Given the description of an element on the screen output the (x, y) to click on. 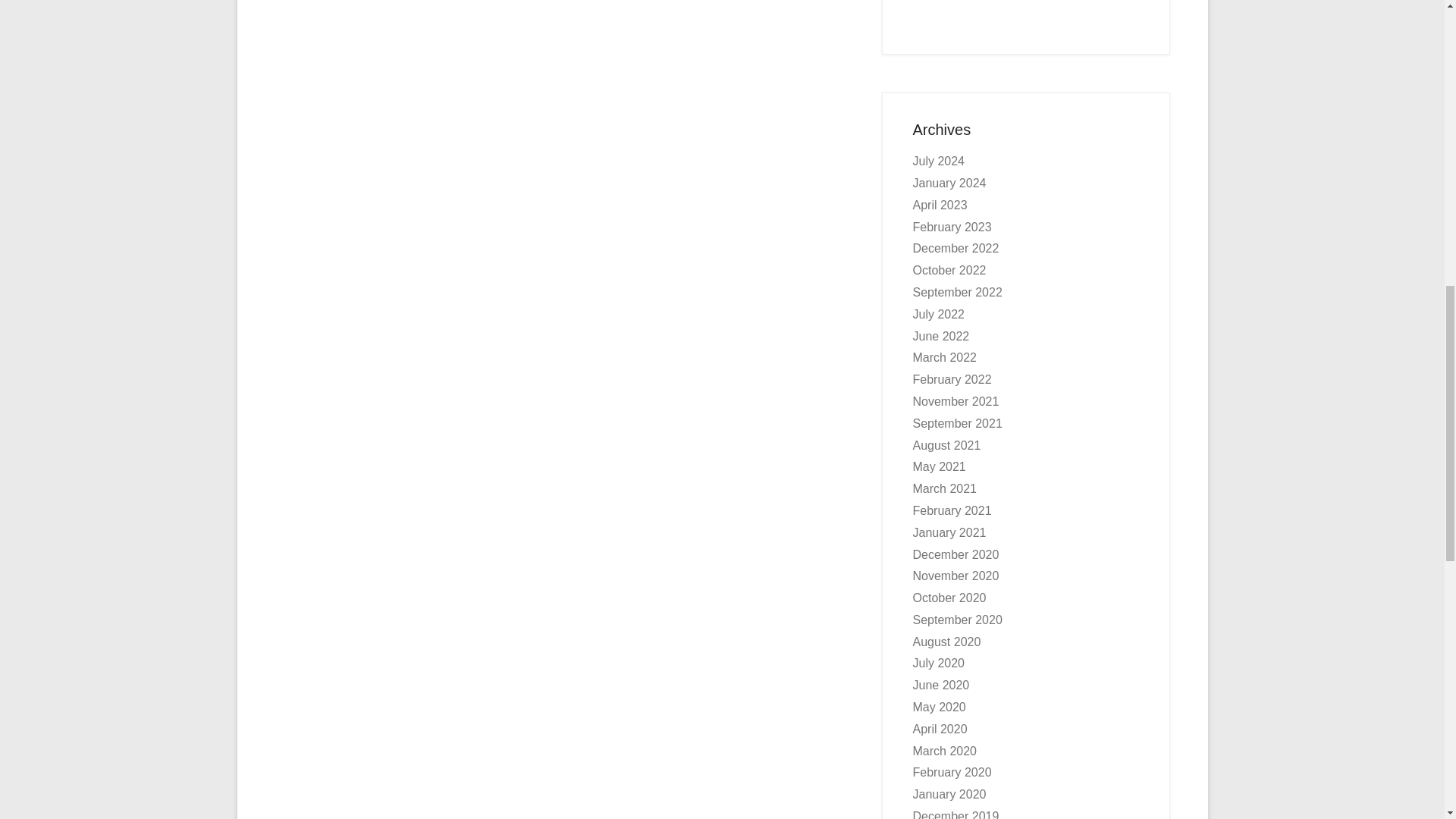
September 2020 (957, 619)
April 2023 (940, 205)
October 2022 (949, 269)
February 2022 (951, 379)
May 2021 (939, 466)
August 2021 (946, 445)
February 2021 (951, 510)
February 2023 (951, 226)
June 2022 (940, 336)
December 2022 (955, 247)
December 2020 (955, 553)
September 2021 (957, 422)
March 2022 (944, 357)
March 2021 (944, 488)
August 2020 (946, 641)
